Given the description of an element on the screen output the (x, y) to click on. 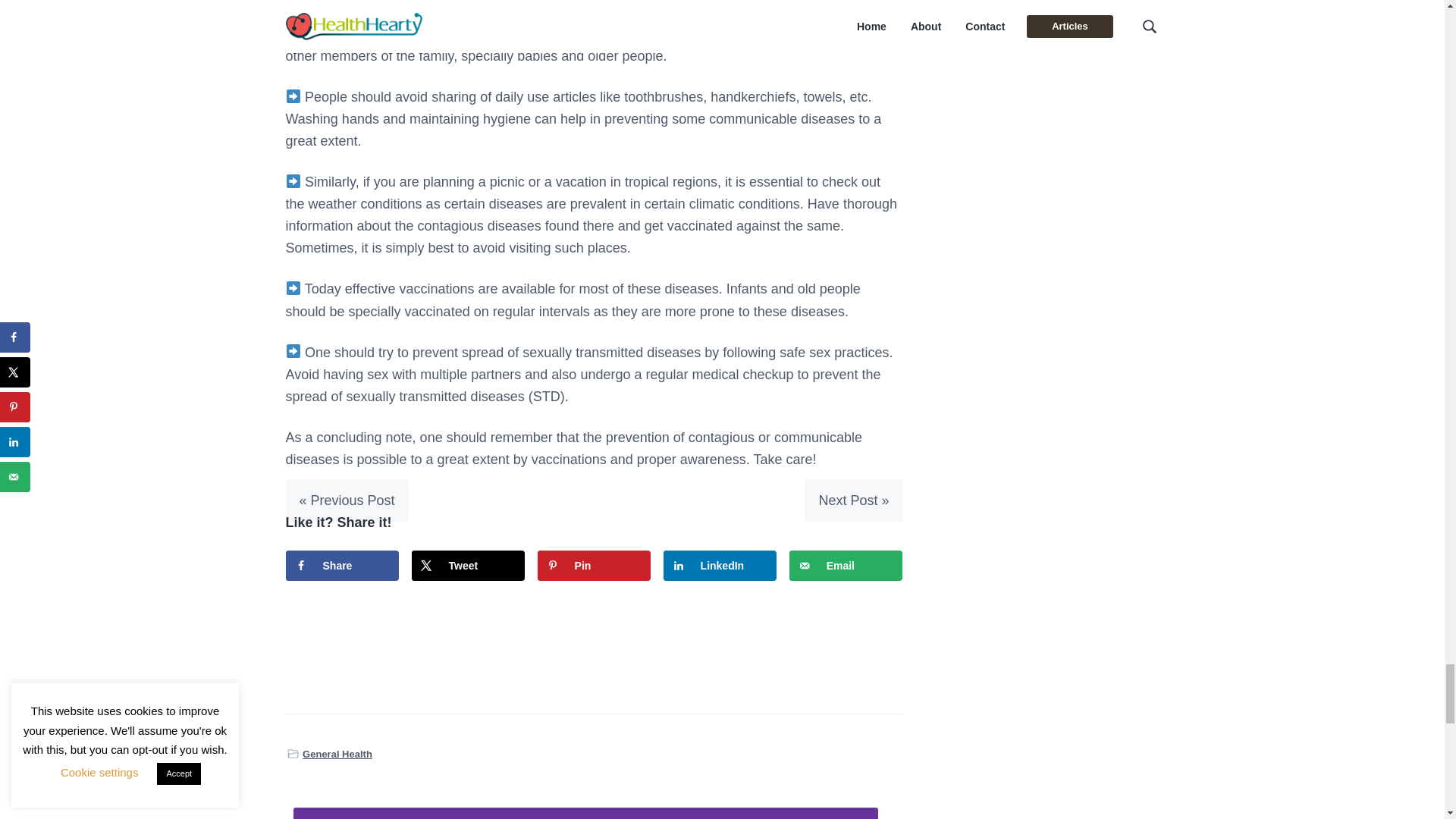
LinkedIn (720, 565)
General Health (337, 754)
Tweet (468, 565)
Share on X (468, 565)
Share (341, 565)
Save to Pinterest (593, 565)
Share on Facebook (341, 565)
Pin (593, 565)
Email (845, 565)
Share on LinkedIn (720, 565)
